Given the description of an element on the screen output the (x, y) to click on. 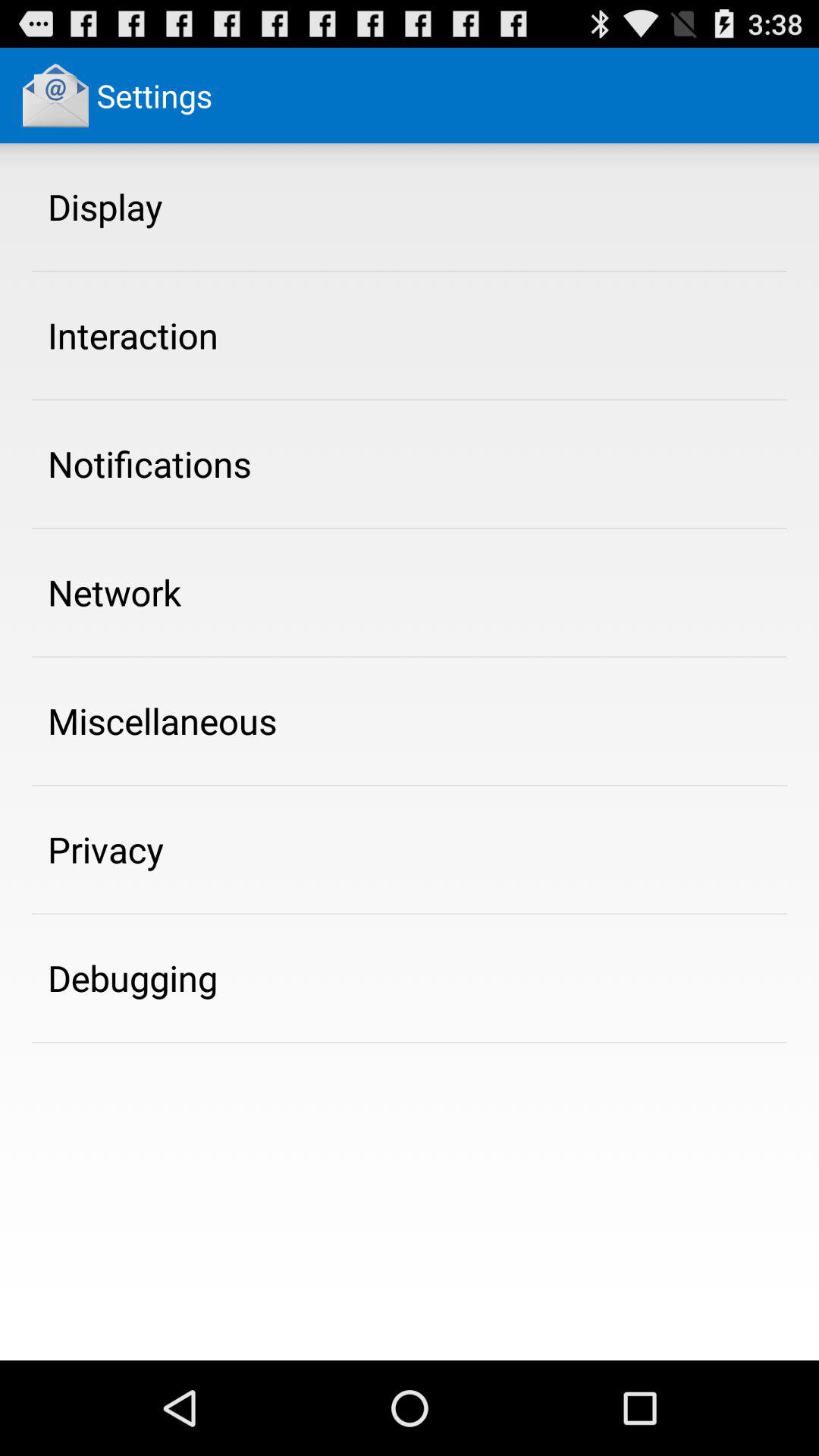
turn on app at the bottom left corner (132, 977)
